Given the description of an element on the screen output the (x, y) to click on. 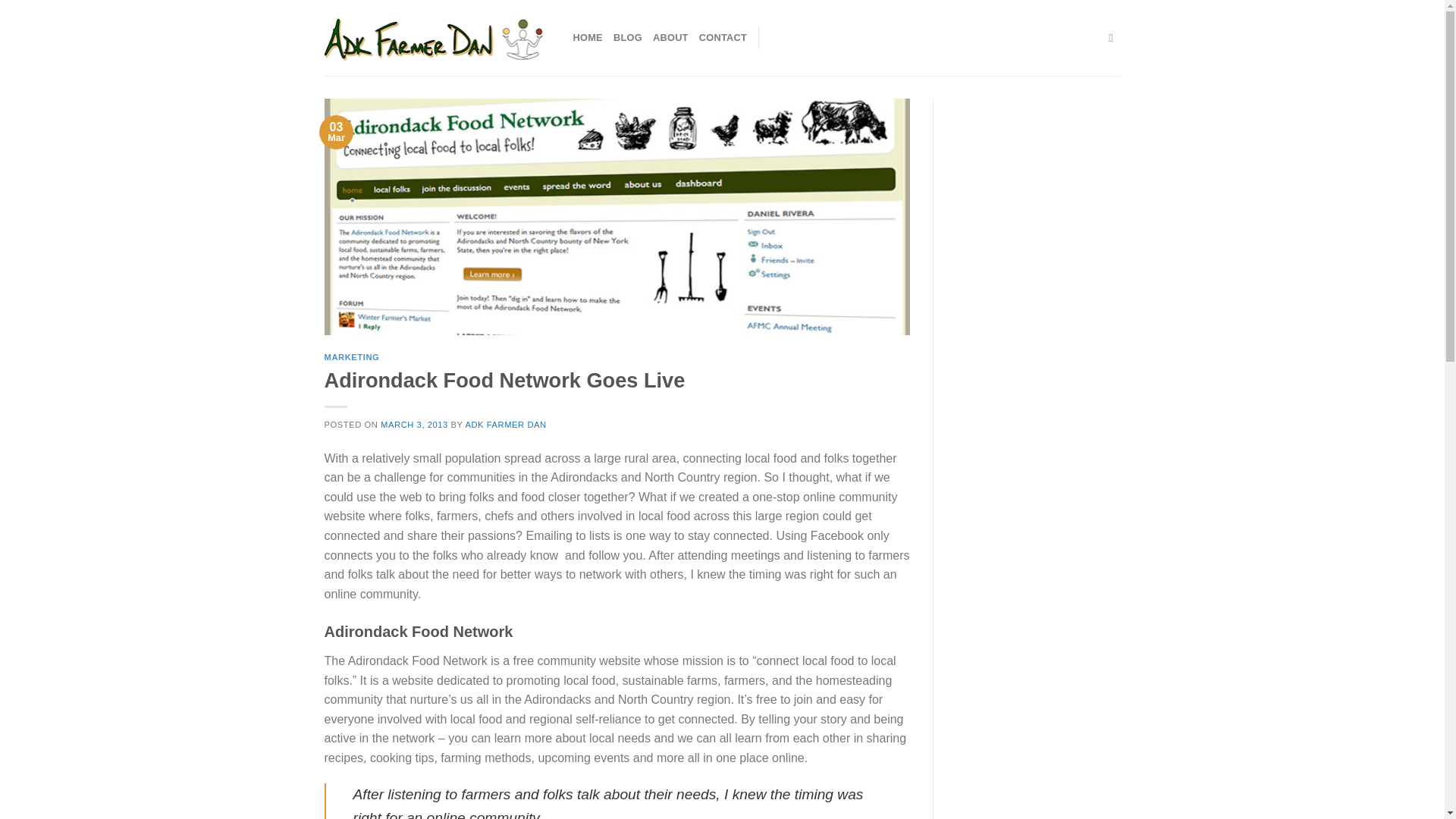
MARKETING (352, 356)
HOME (587, 37)
ABOUT (670, 37)
BLOG (627, 37)
CONTACT (722, 37)
MARCH 3, 2013 (414, 424)
ADK FARMER DAN (505, 424)
